Given the description of an element on the screen output the (x, y) to click on. 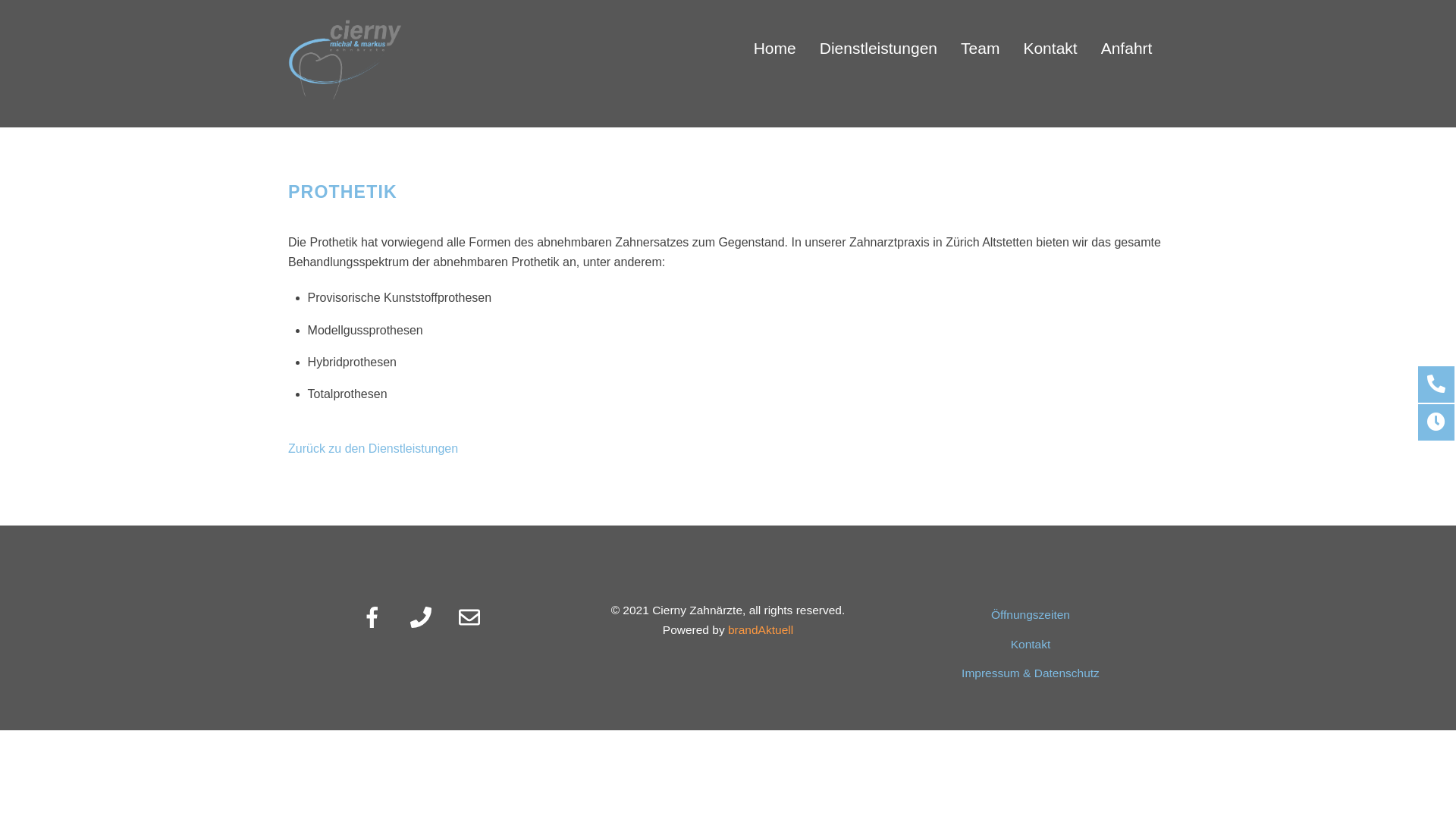
brandAktuell Element type: text (760, 629)
Team Element type: text (979, 41)
Cierny-Logo Element type: hover (344, 59)
Impressum & Datenschutz Element type: text (1030, 672)
Kontakt Element type: text (1049, 41)
Dienstleistungen Element type: text (877, 41)
Home Element type: text (774, 41)
Kontakt Element type: text (1030, 643)
Anfahrt Element type: text (1126, 41)
